Given the description of an element on the screen output the (x, y) to click on. 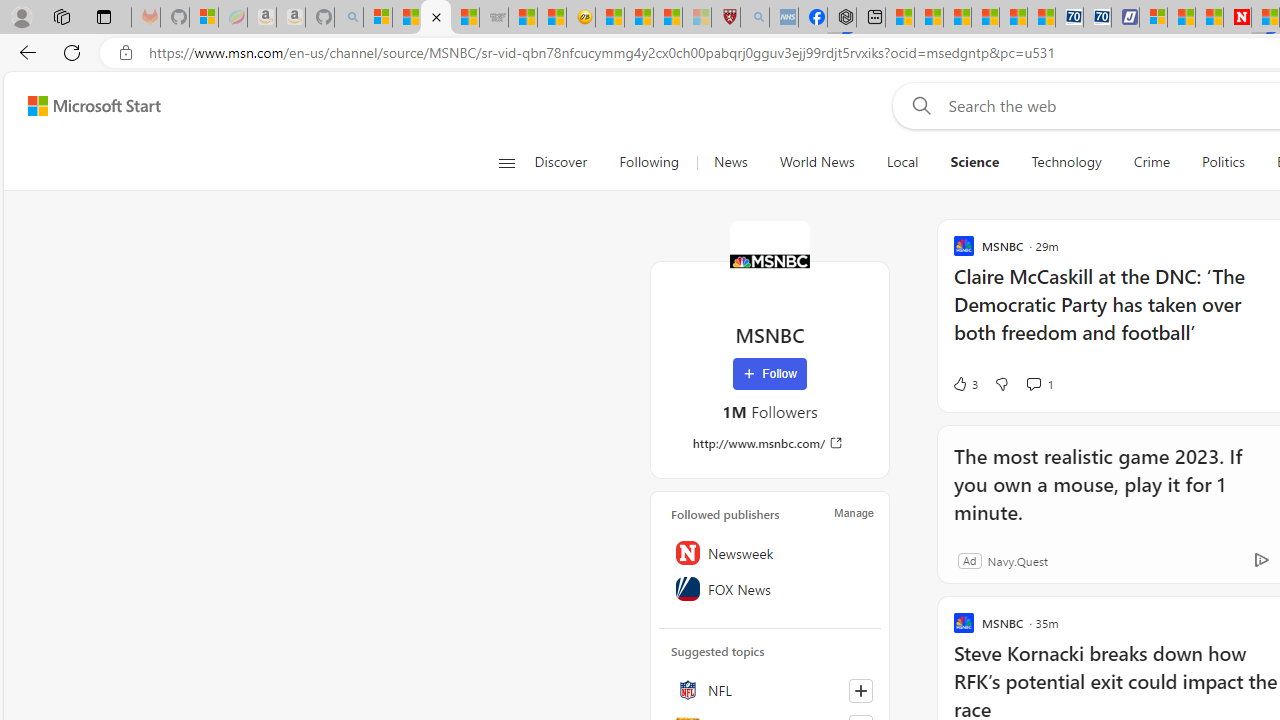
Navy.Quest (1017, 560)
Cheap Car Rentals - Save70.com (1069, 17)
